Given the description of an element on the screen output the (x, y) to click on. 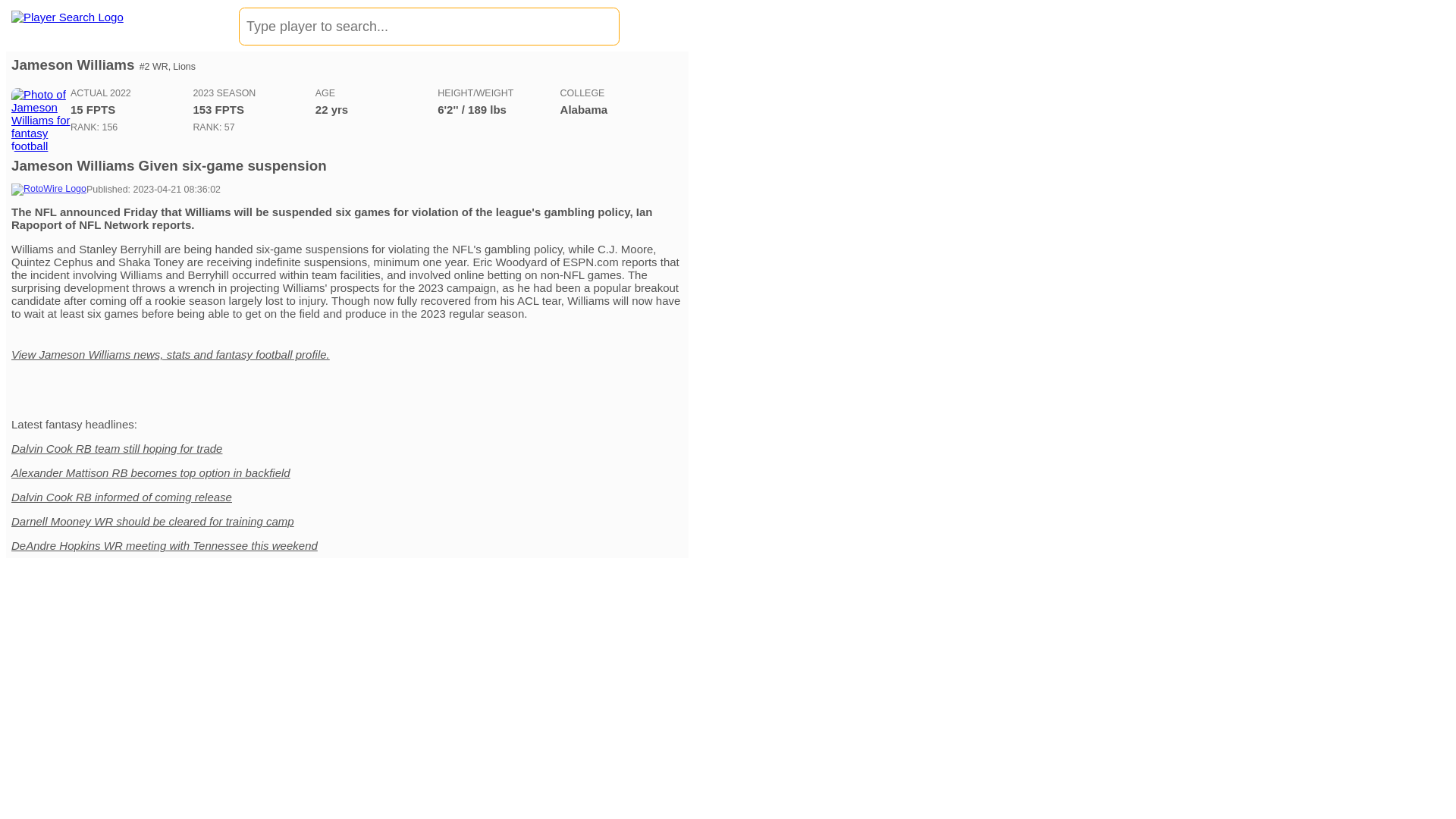
Alexander Mattison RB becomes top option in backfield (150, 472)
Dalvin Cook RB informed of coming release (121, 496)
DeAndre Hopkins WR meeting with Tennessee this weekend (164, 545)
Darnell Mooney WR should be cleared for training camp (152, 521)
Dalvin Cook RB team still hoping for trade (116, 448)
